Given the description of an element on the screen output the (x, y) to click on. 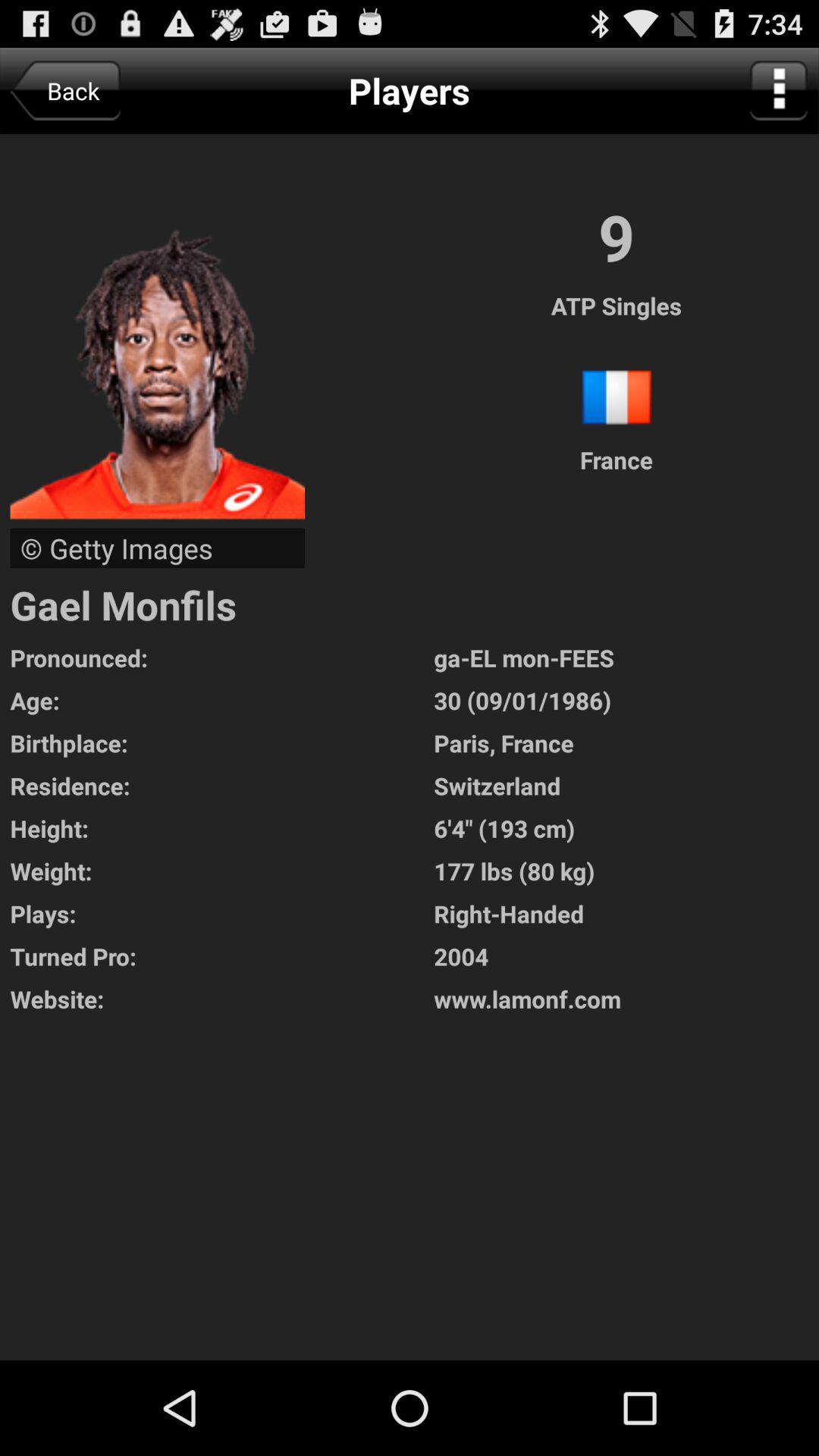
jump to the height: (221, 828)
